Given the description of an element on the screen output the (x, y) to click on. 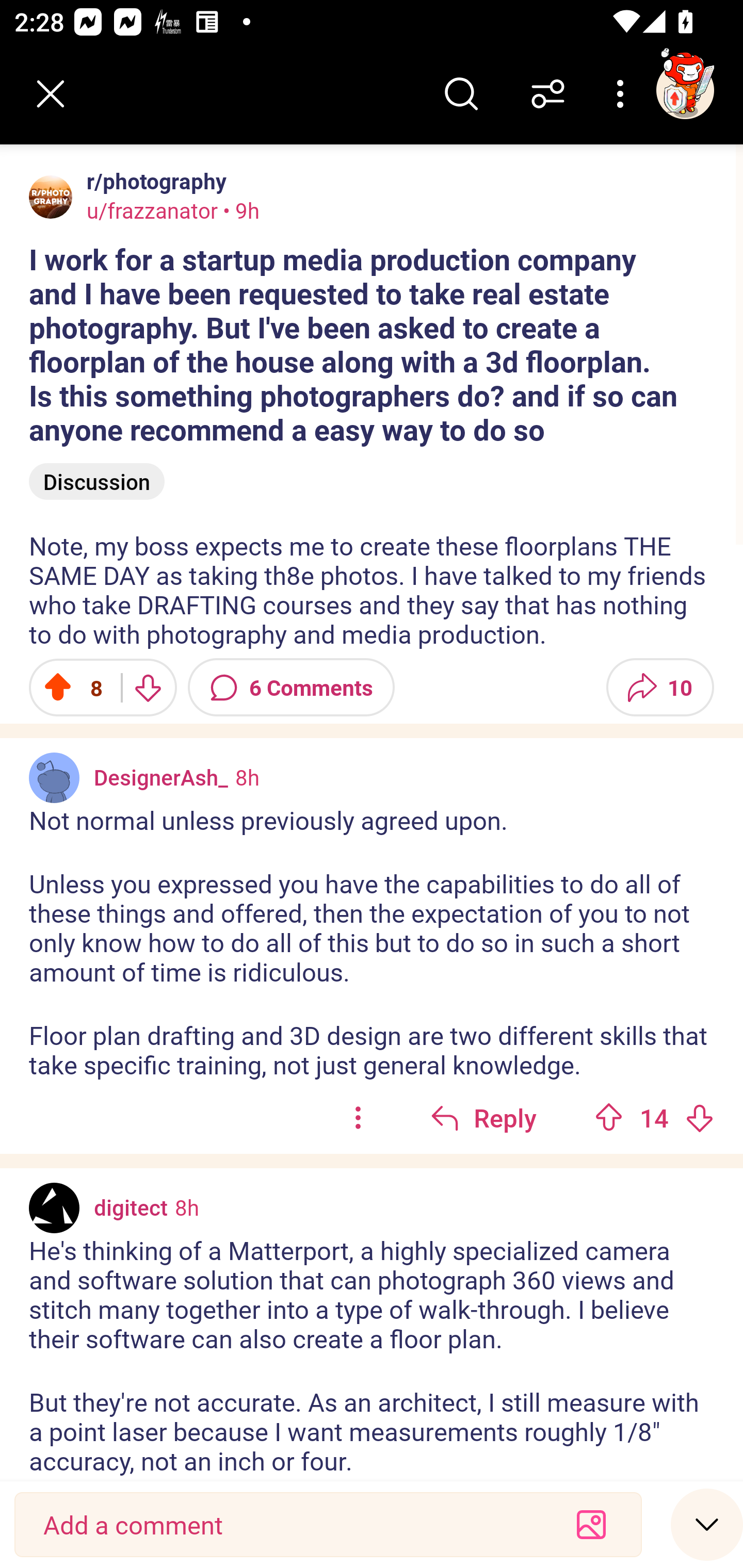
Back (50, 93)
TestAppium002 account (685, 90)
Search comments (460, 93)
Sort comments (547, 93)
More options (623, 93)
r/photography (153, 181)
Avatar (50, 196)
u/frazzanator (151, 210)
Discussion (96, 481)
Downvote (146, 687)
6 Comments (290, 687)
Share 10 (660, 687)
Avatar (53, 777)
8h (247, 776)
options (358, 1117)
Reply (483, 1117)
Upvote 14 14 votes Downvote (654, 1117)
Upvote (608, 1117)
Downvote (699, 1117)
Avatar (53, 1208)
8h (186, 1207)
Speed read (706, 1524)
Add a comment (291, 1524)
Add an image (590, 1524)
